Given the description of an element on the screen output the (x, y) to click on. 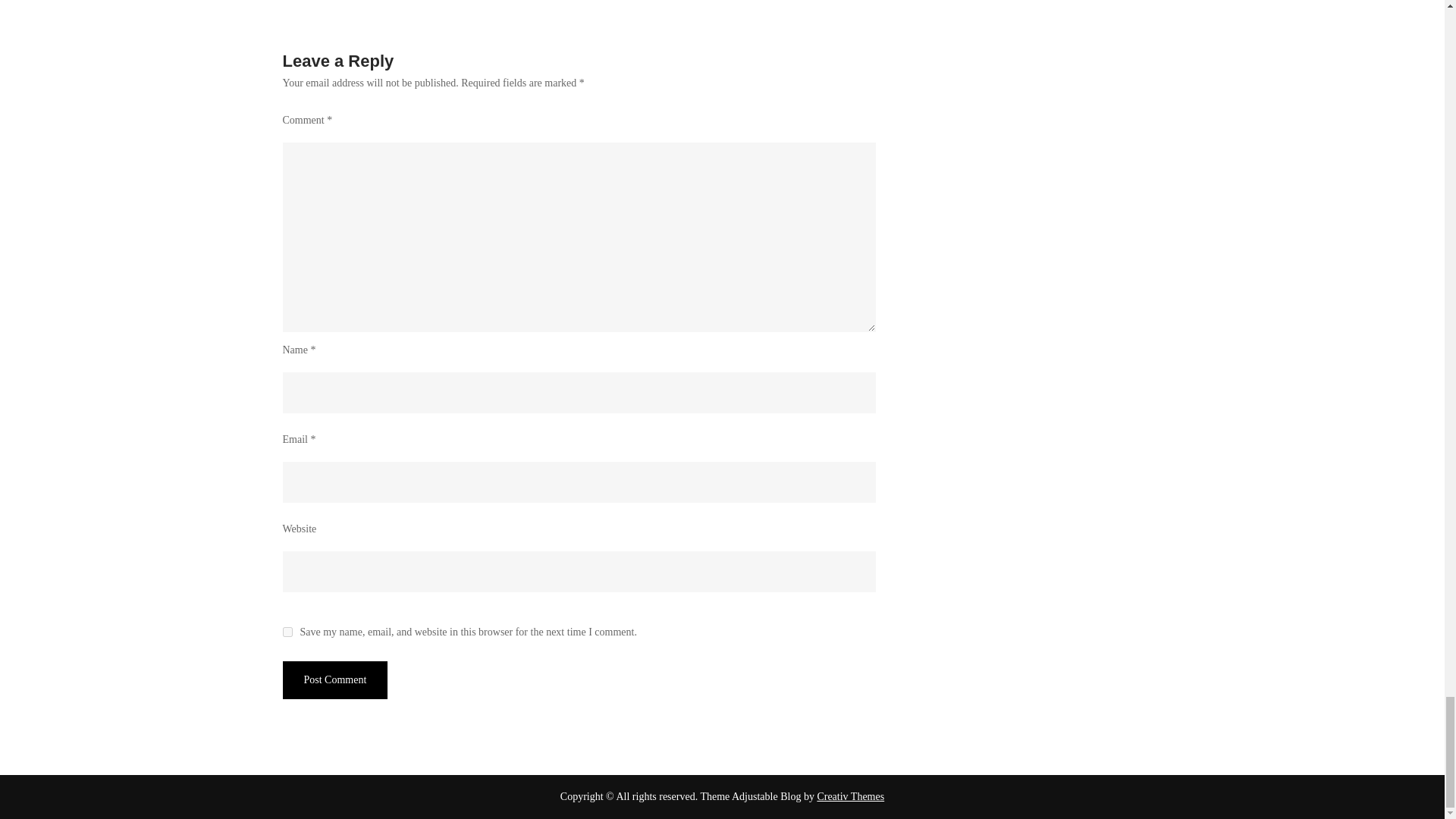
Post Comment (334, 679)
yes (287, 632)
